Given the description of an element on the screen output the (x, y) to click on. 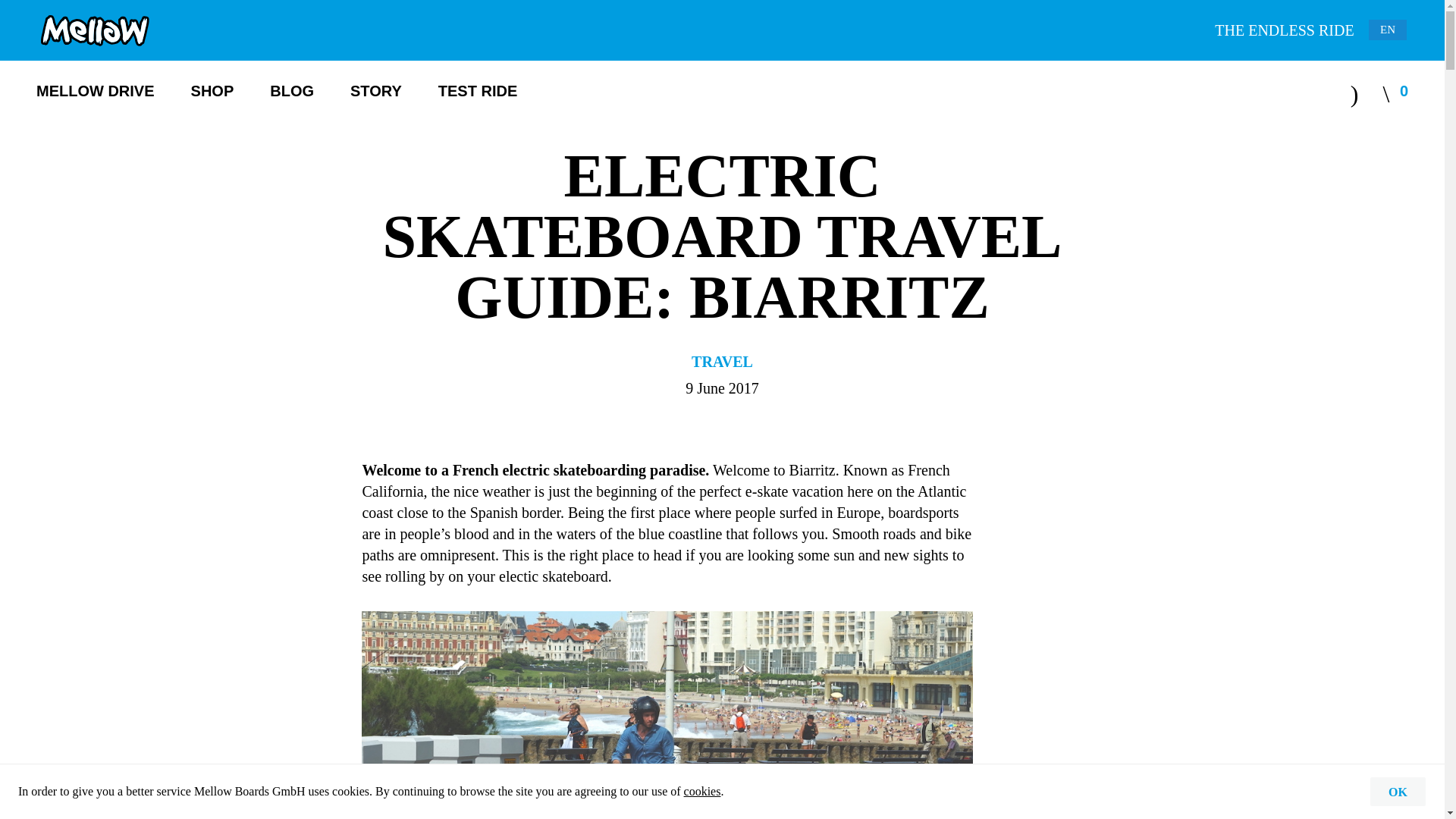
MELLOW DRIVE (95, 90)
EN (1387, 29)
The Electric Skateboard Drive that fits under any Skateboard (94, 30)
TEST RIDE (477, 90)
Test Ride (477, 90)
Mellow Drive (95, 90)
